Given the description of an element on the screen output the (x, y) to click on. 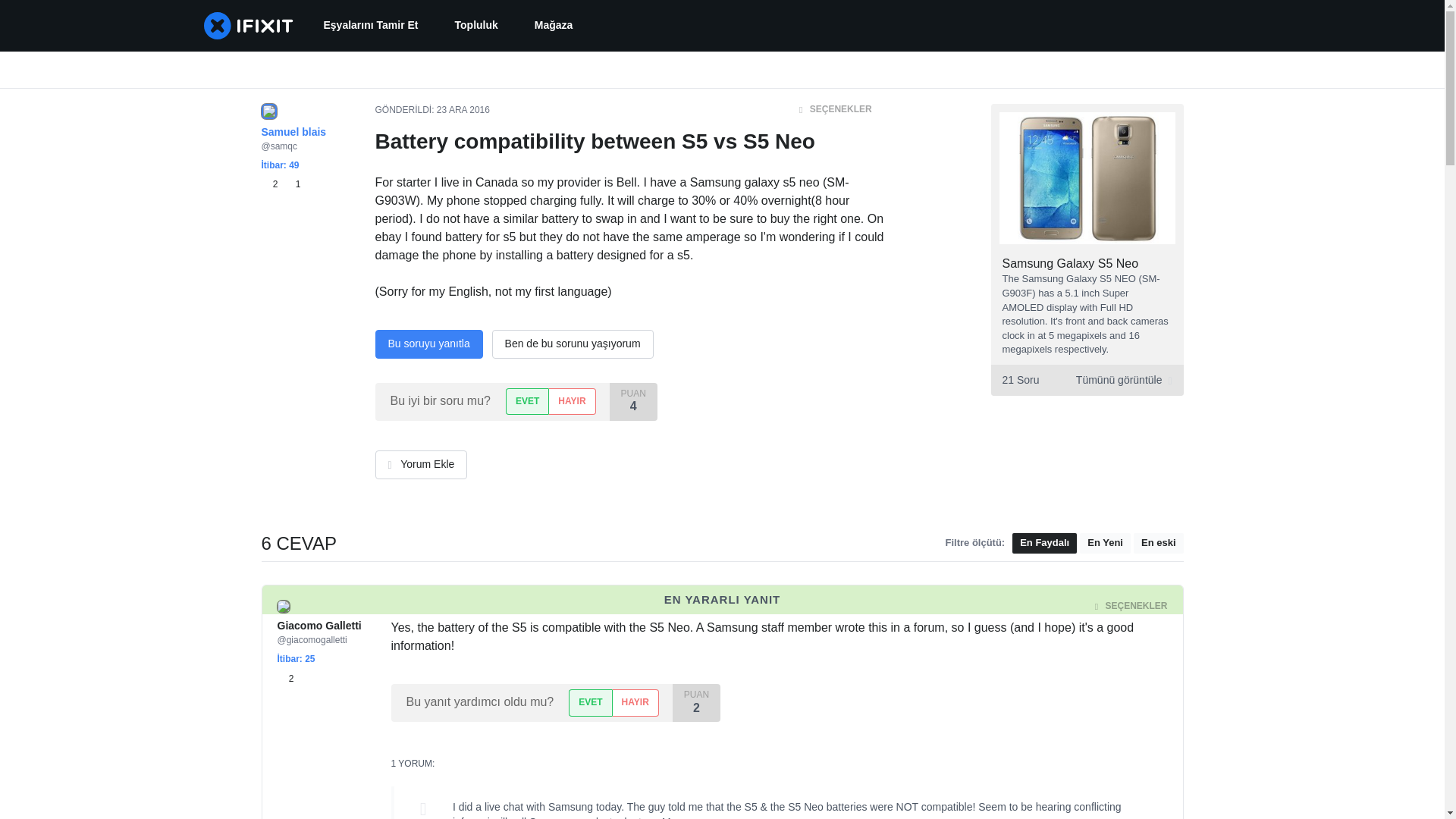
Fri, 23 Dec 2016 12:11:33 -0700 (462, 109)
EVET (526, 401)
En eski (1158, 543)
Sat, 22 Jul 2017 13:21:07 -0700 (479, 606)
2 Bronz rozeti (271, 184)
HAYIR (635, 702)
2 Bronz rozeti (286, 677)
2 (286, 677)
Topluluk (476, 25)
Samsung Galaxy S5 Neo (1070, 263)
